Given the description of an element on the screen output the (x, y) to click on. 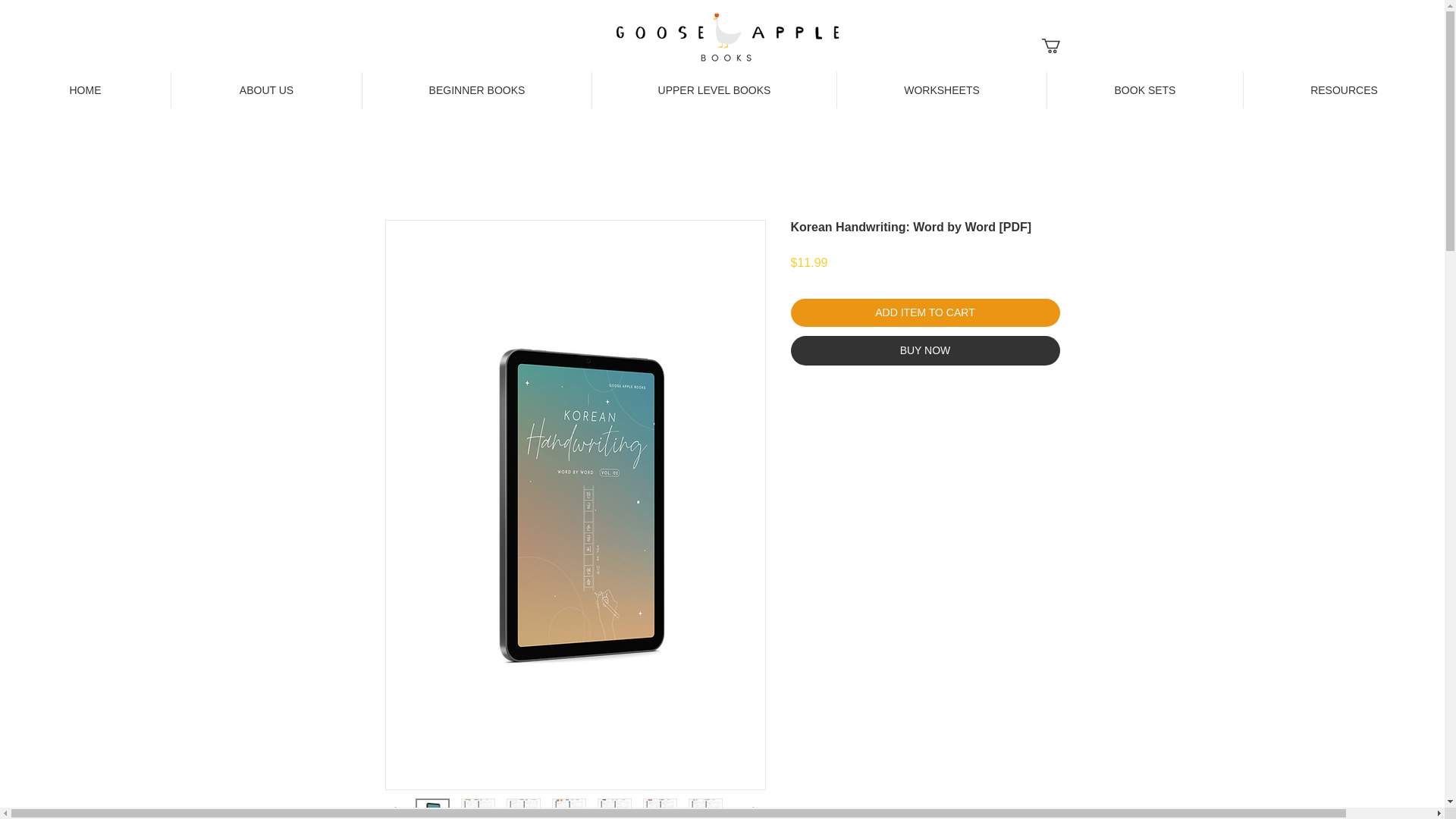
ABOUT US (265, 90)
ADD ITEM TO CART (924, 312)
BUY NOW (924, 350)
WORKSHEETS (940, 90)
BEGINNER BOOKS (476, 90)
HOME (85, 90)
RESOURCES (1343, 90)
BOOK SETS (1144, 90)
UPPER LEVEL BOOKS (713, 90)
